Given the description of an element on the screen output the (x, y) to click on. 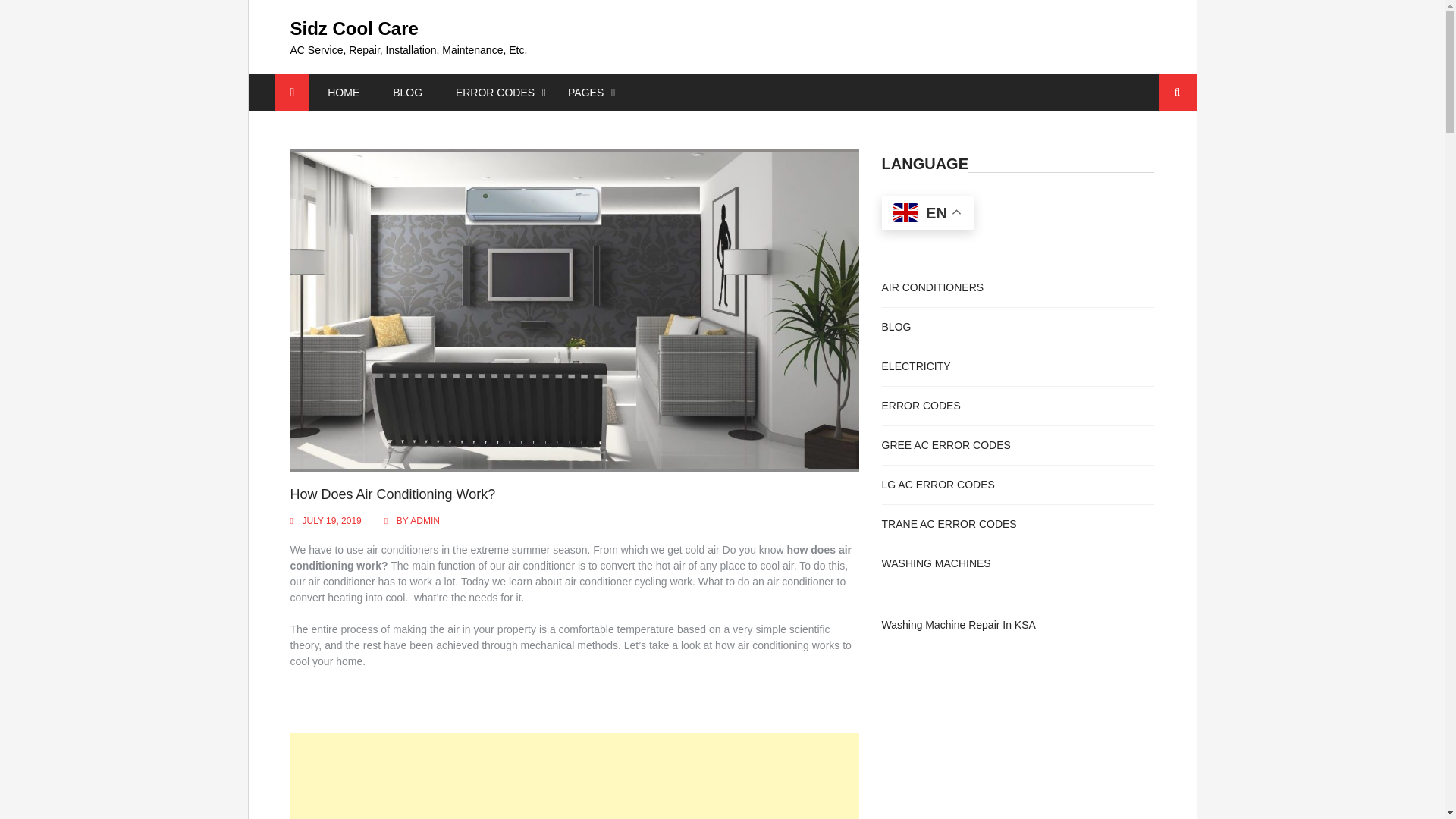
Search (1177, 92)
Search (1177, 92)
Sidz Cool Care (353, 28)
ADMIN (424, 520)
ERROR CODES (495, 91)
PAGES (585, 91)
Search (1177, 92)
BLOG (407, 91)
HOME (343, 91)
JULY 19, 2019 (331, 520)
